Given the description of an element on the screen output the (x, y) to click on. 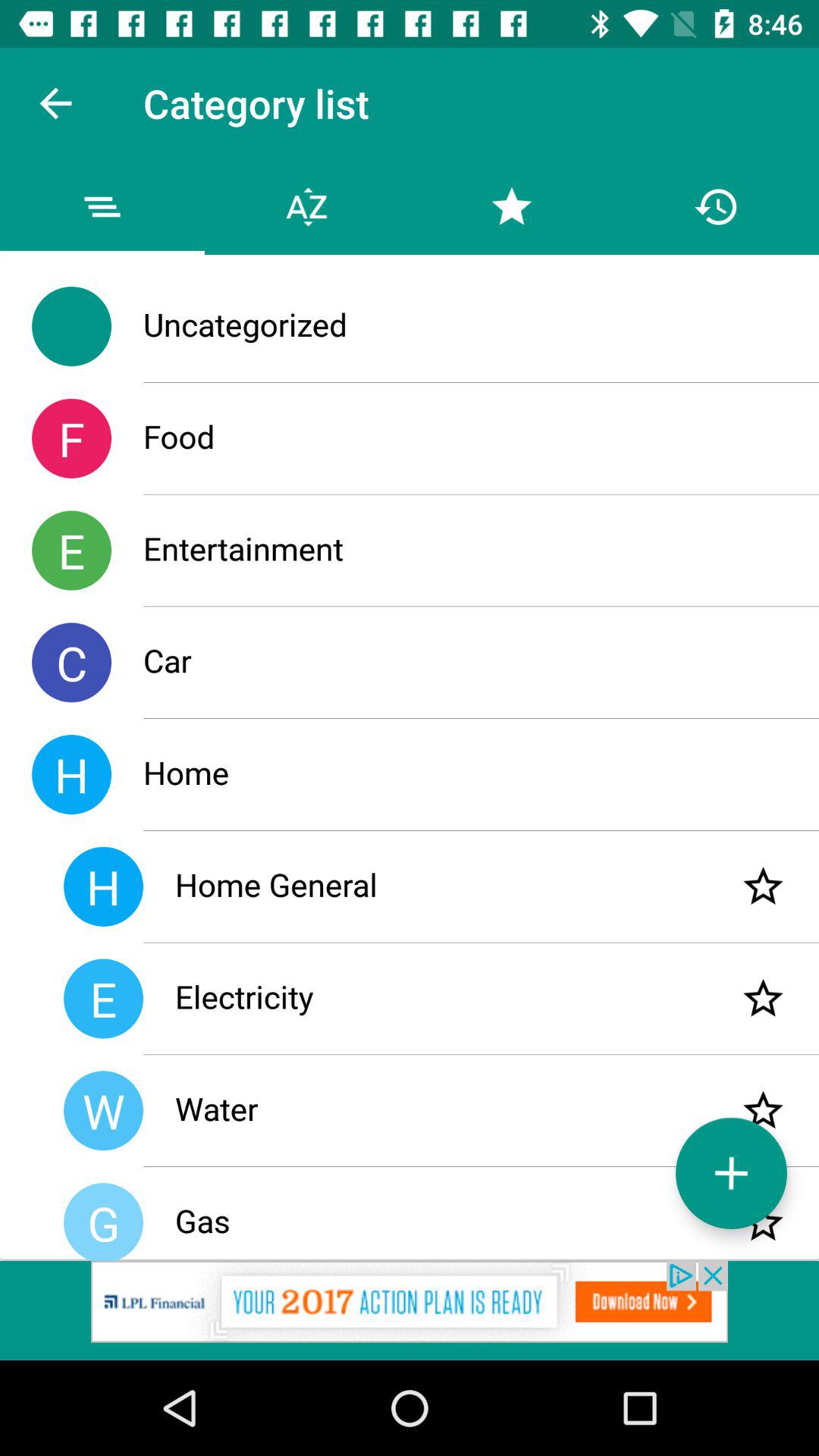
favorite category (763, 998)
